Given the description of an element on the screen output the (x, y) to click on. 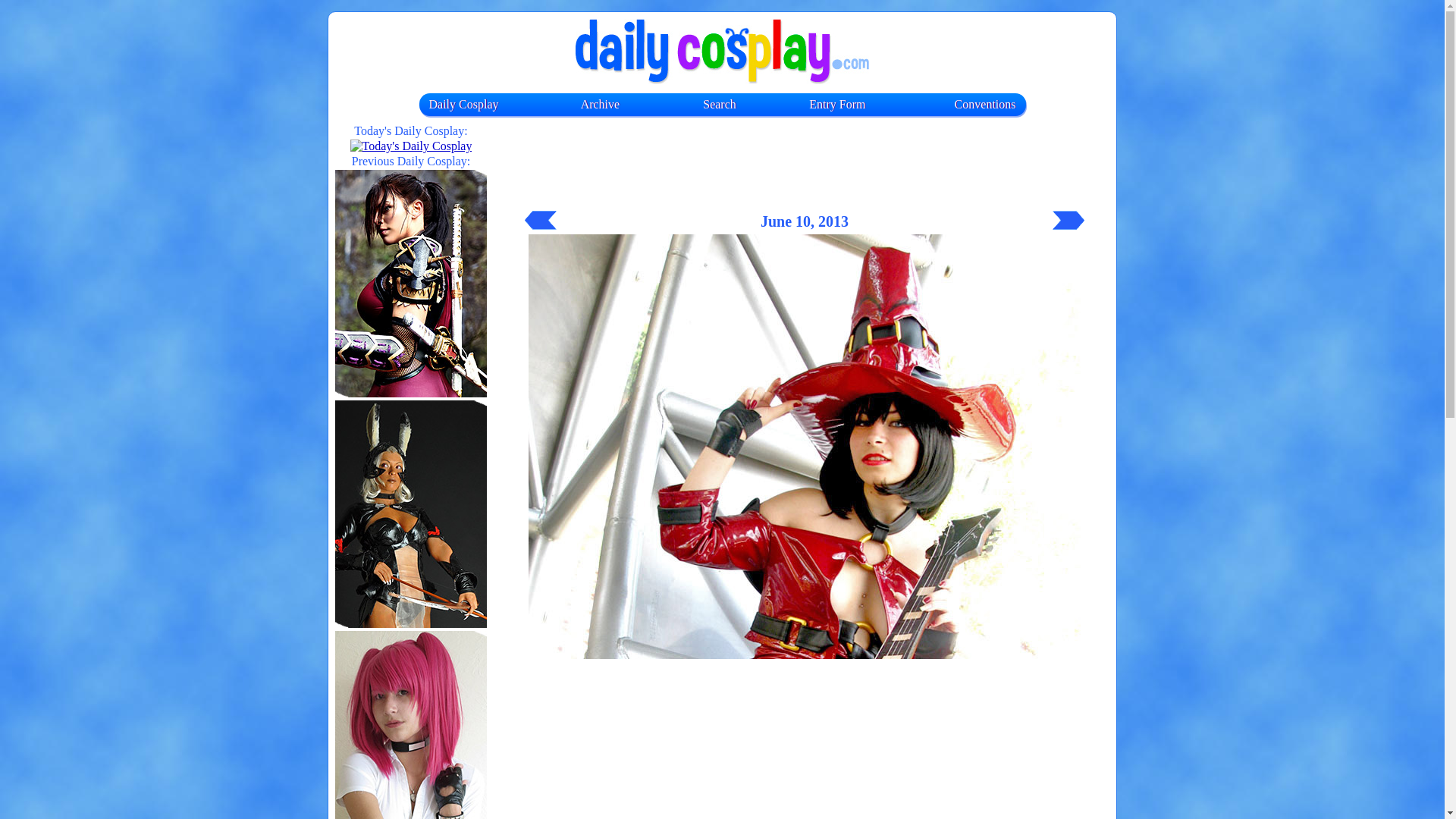
Entry Form (836, 103)
Search (719, 103)
Today's Daily Cosplay (410, 146)
Conventions (985, 103)
Previous (540, 220)
Entry Form (836, 103)
Search (719, 103)
Daily Cosplay (464, 103)
Daily Cosplay .com (722, 51)
Cosplay Friendly Conventions (985, 103)
